Given the description of an element on the screen output the (x, y) to click on. 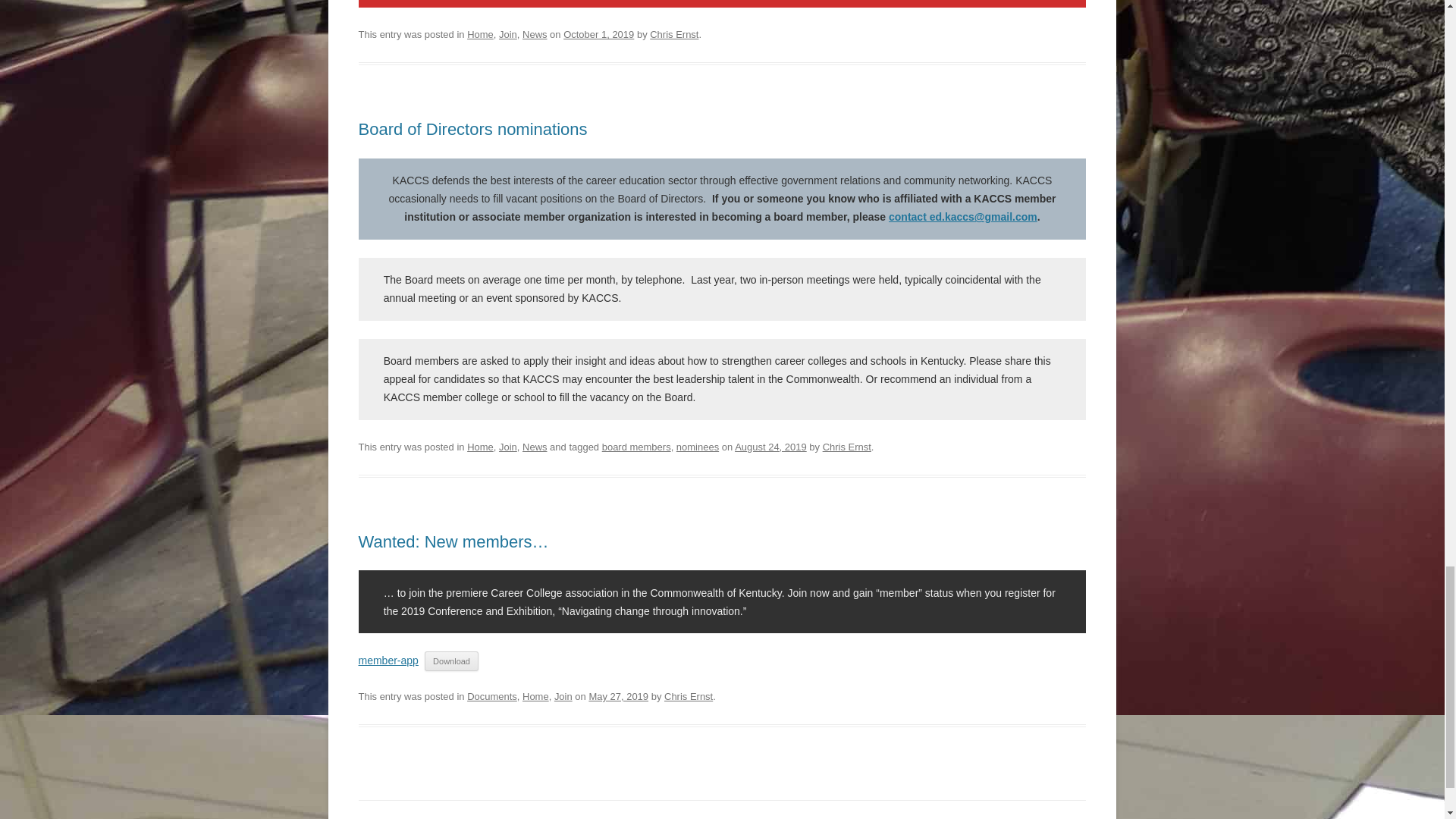
Home (480, 34)
View all posts by Chris Ernst (846, 446)
News (534, 34)
View all posts by Chris Ernst (673, 34)
Join (507, 34)
12:33 pm (770, 446)
7:20 pm (598, 34)
6:57 pm (617, 696)
View all posts by Chris Ernst (688, 696)
